Given the description of an element on the screen output the (x, y) to click on. 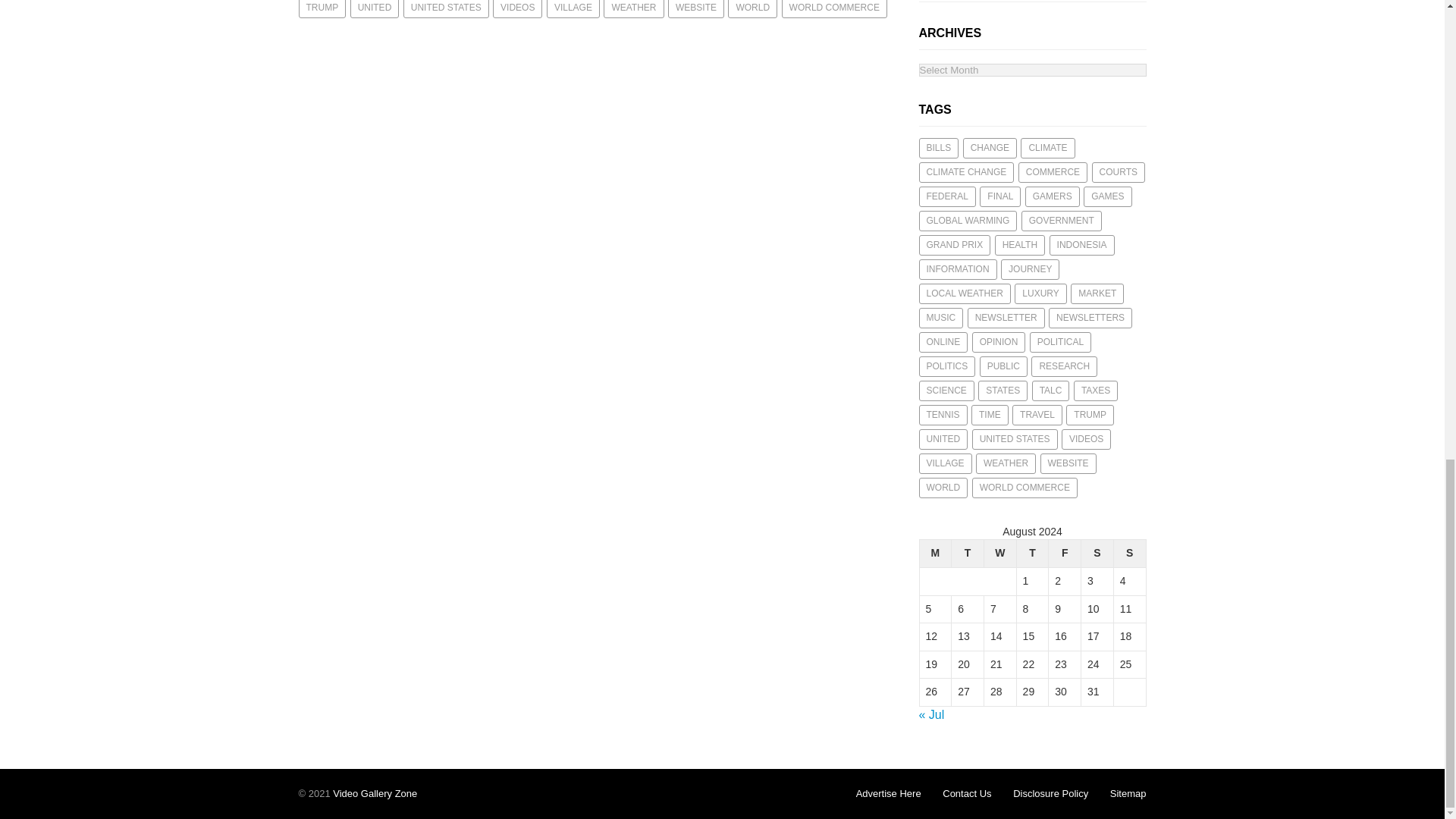
Saturday (1097, 553)
Friday (1064, 553)
Monday (935, 553)
Wednesday (1000, 553)
Sunday (1129, 553)
Tuesday (968, 553)
Thursday (1032, 553)
